Given the description of an element on the screen output the (x, y) to click on. 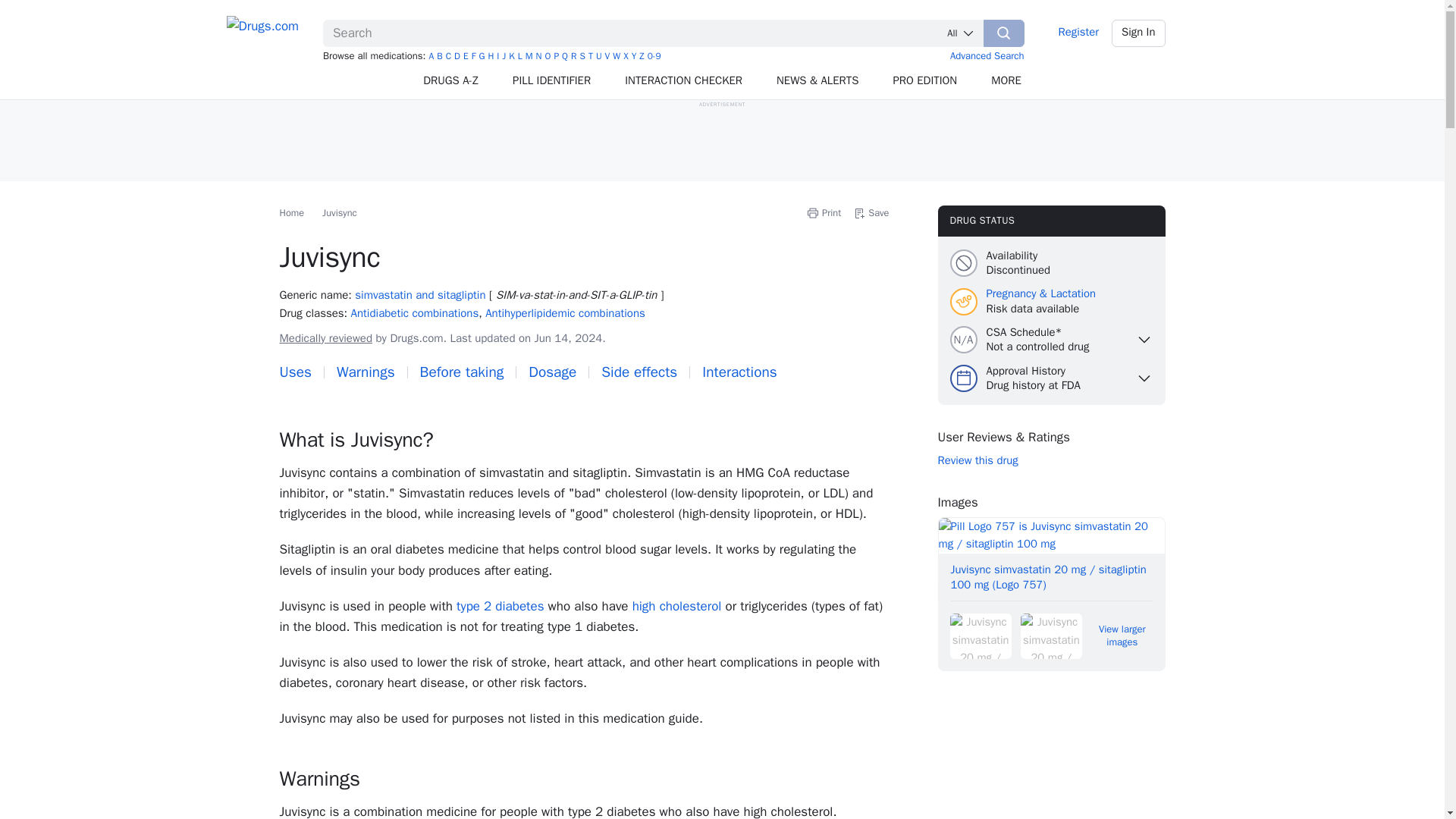
H (490, 55)
B (439, 55)
S (582, 55)
N (538, 55)
Y (634, 55)
Advanced Search (987, 55)
X (625, 55)
Sign In (1139, 32)
Q (564, 55)
L (520, 55)
T (590, 55)
View larger image (1050, 558)
A (431, 55)
F (473, 55)
Search (1004, 32)
